Given the description of an element on the screen output the (x, y) to click on. 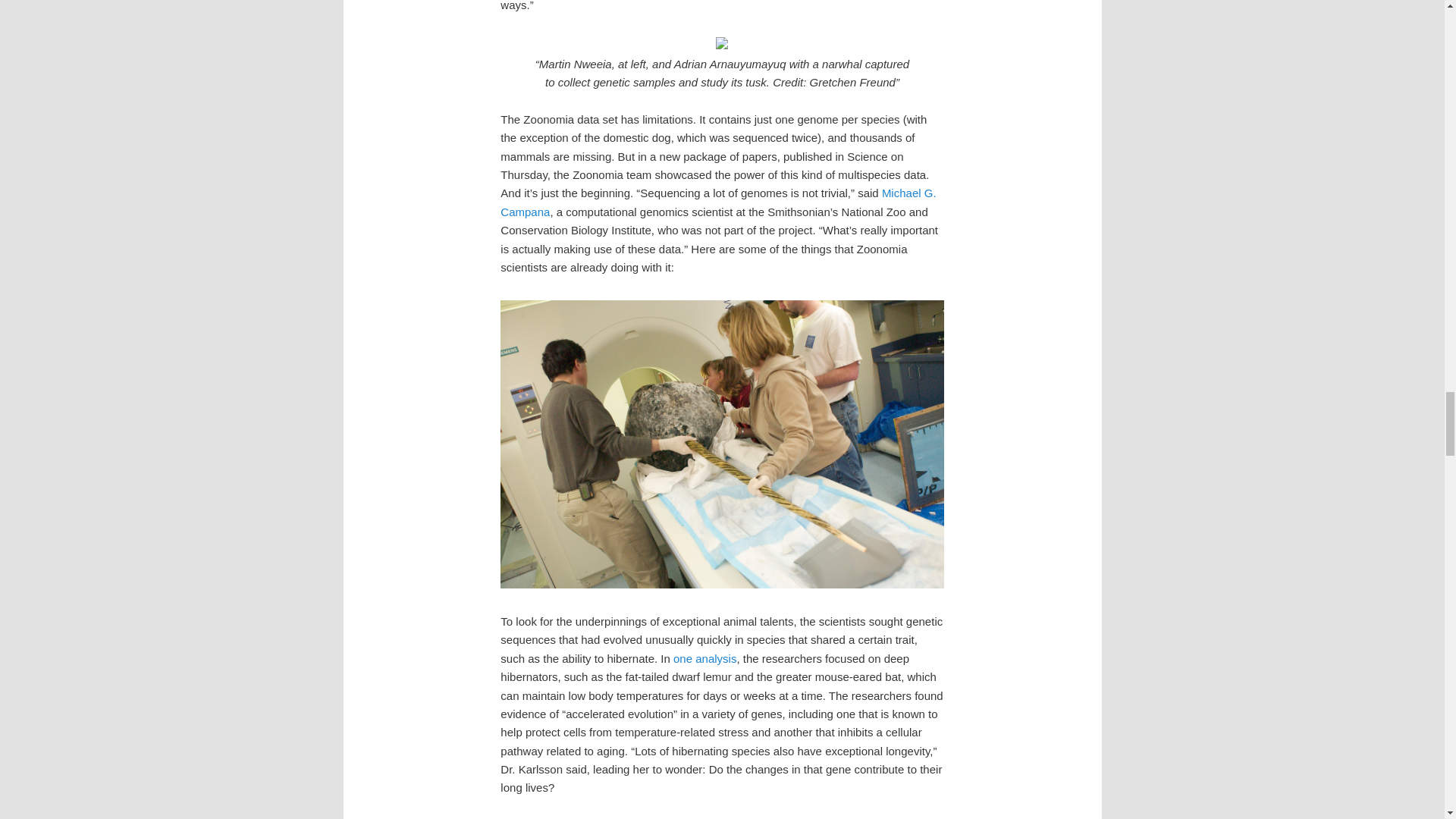
Michael G. Campana (718, 201)
one analysis (704, 658)
